Given the description of an element on the screen output the (x, y) to click on. 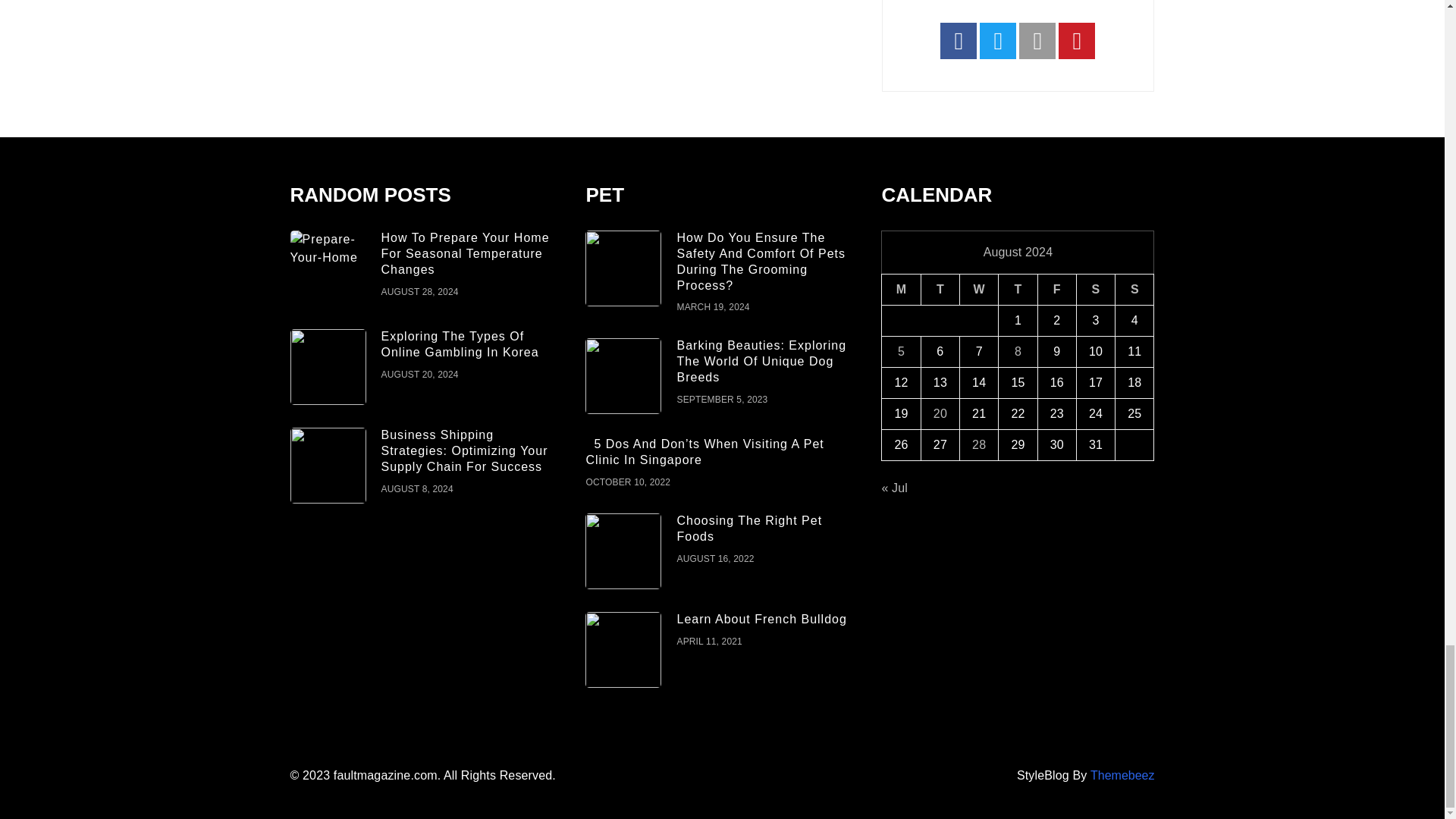
Tuesday (939, 289)
Friday (1055, 289)
Pinterest (1076, 40)
LinkedIn (1037, 40)
Saturday (1095, 289)
Sunday (1134, 289)
Monday (901, 289)
Thursday (1017, 289)
Wednesday (978, 289)
Twitter (997, 40)
